Given the description of an element on the screen output the (x, y) to click on. 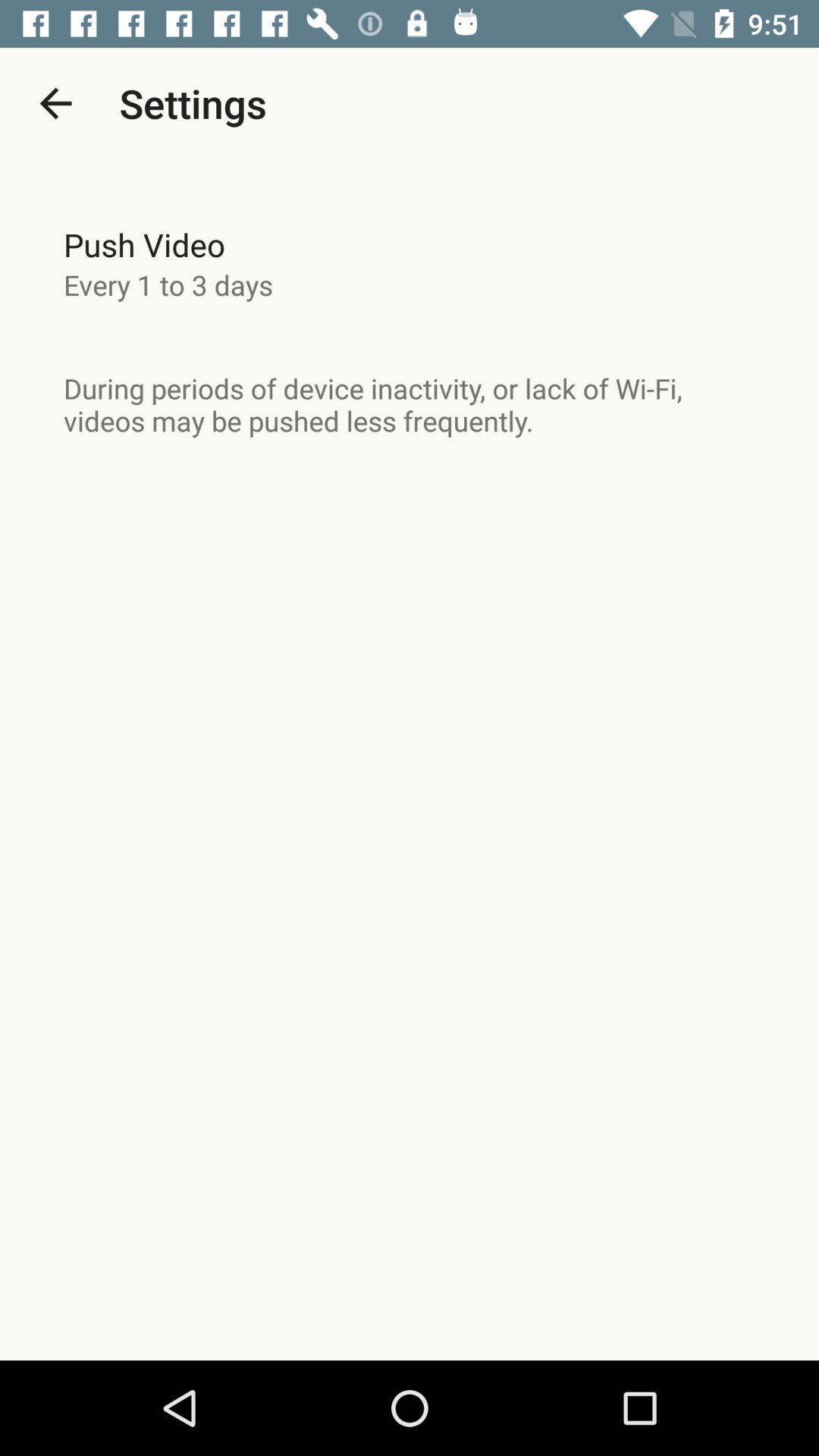
open the item next to the settings (55, 103)
